Given the description of an element on the screen output the (x, y) to click on. 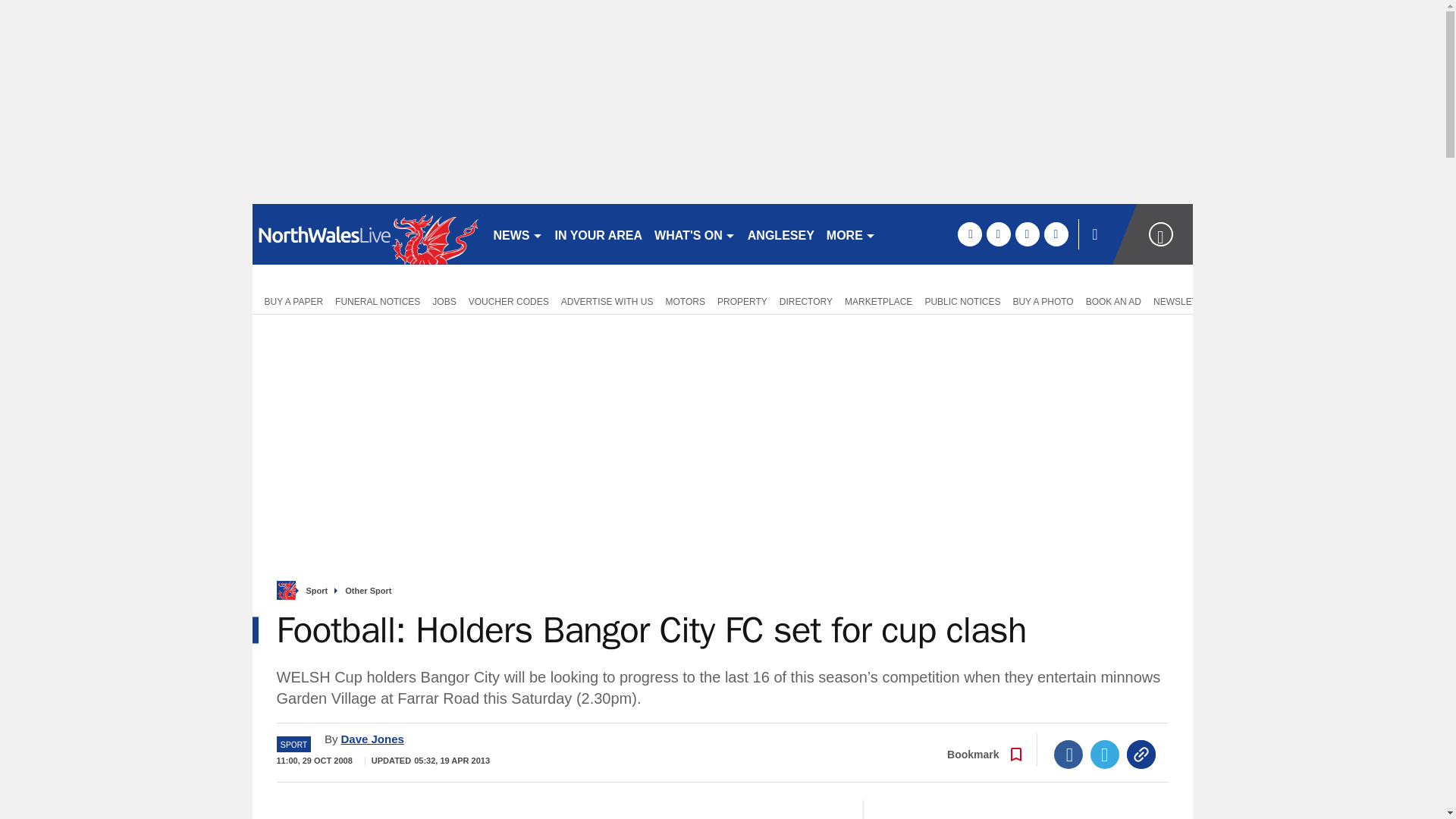
MOTORS (685, 300)
IN YOUR AREA (598, 233)
NEWS (517, 233)
facebook (968, 233)
VOUCHER CODES (508, 300)
ADVERTISE WITH US (606, 300)
northwales (365, 233)
Twitter (1104, 754)
WHAT'S ON (694, 233)
instagram (1055, 233)
